Given the description of an element on the screen output the (x, y) to click on. 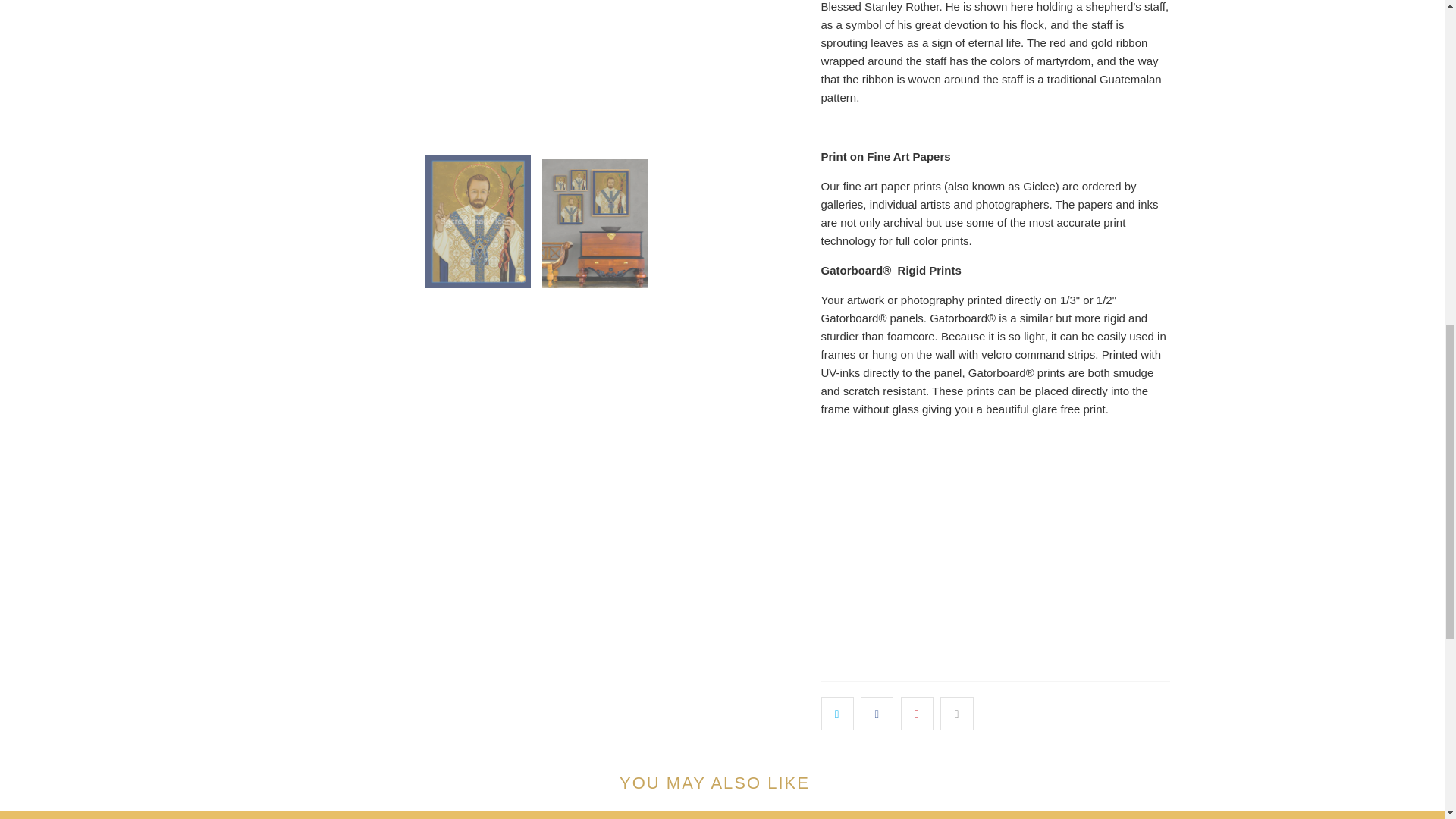
Share this on Pinterest (917, 713)
Email this to a friend (956, 713)
Share this on Facebook (876, 713)
Share this on Twitter (837, 713)
